Given the description of an element on the screen output the (x, y) to click on. 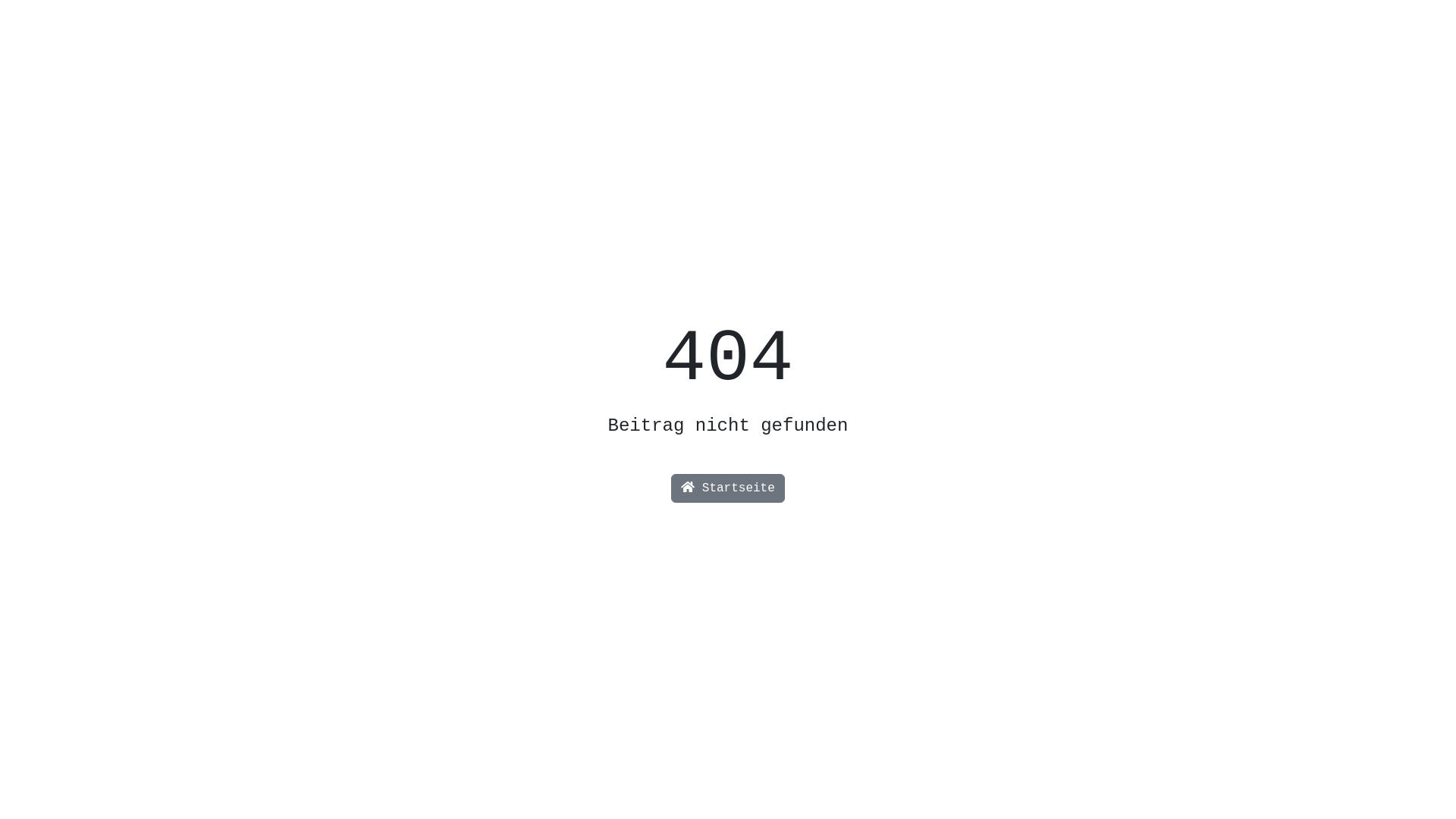
Startseite Element type: text (727, 487)
